Given the description of an element on the screen output the (x, y) to click on. 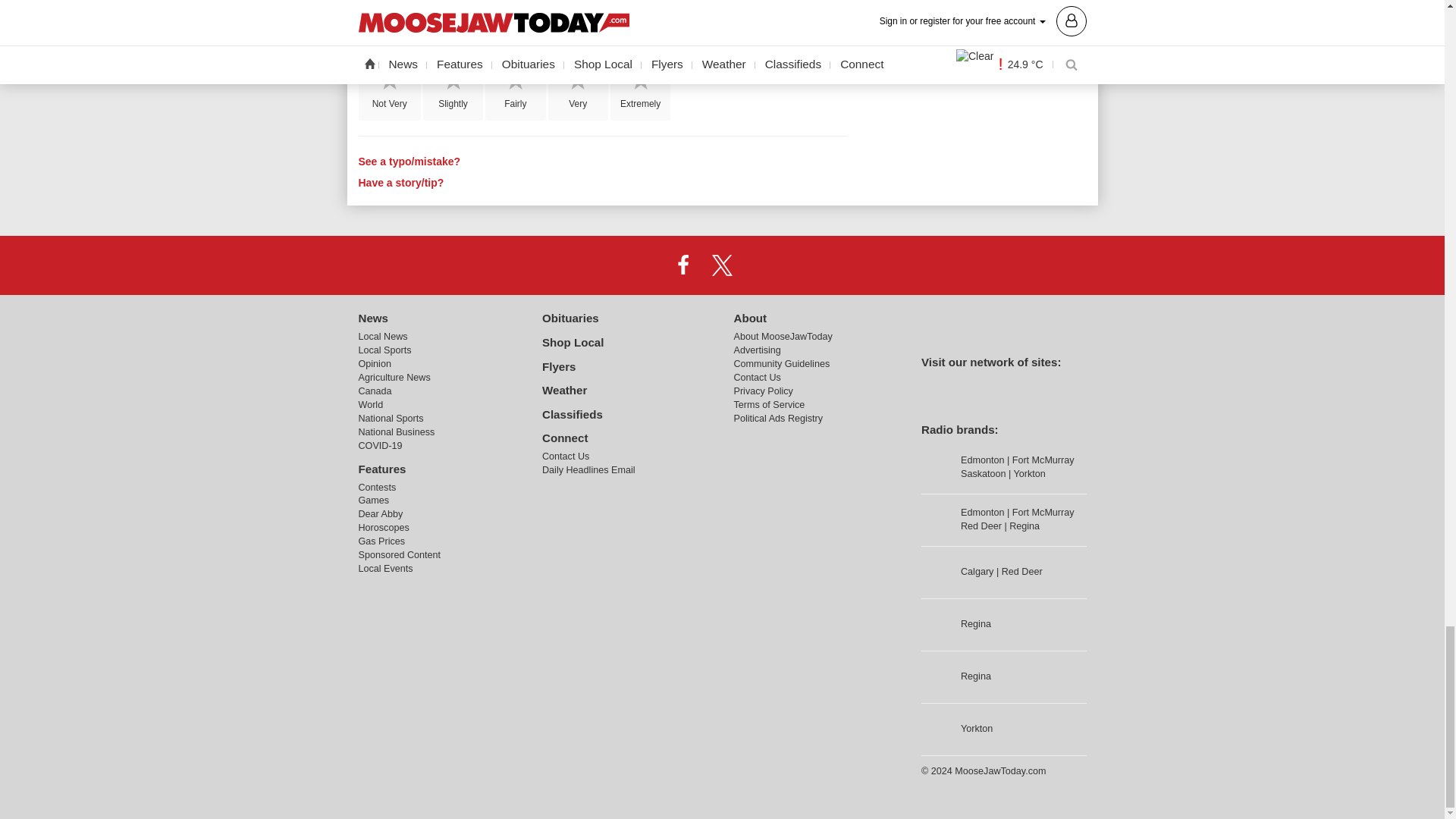
Facebook (683, 265)
X (721, 265)
Instagram (760, 265)
